Given the description of an element on the screen output the (x, y) to click on. 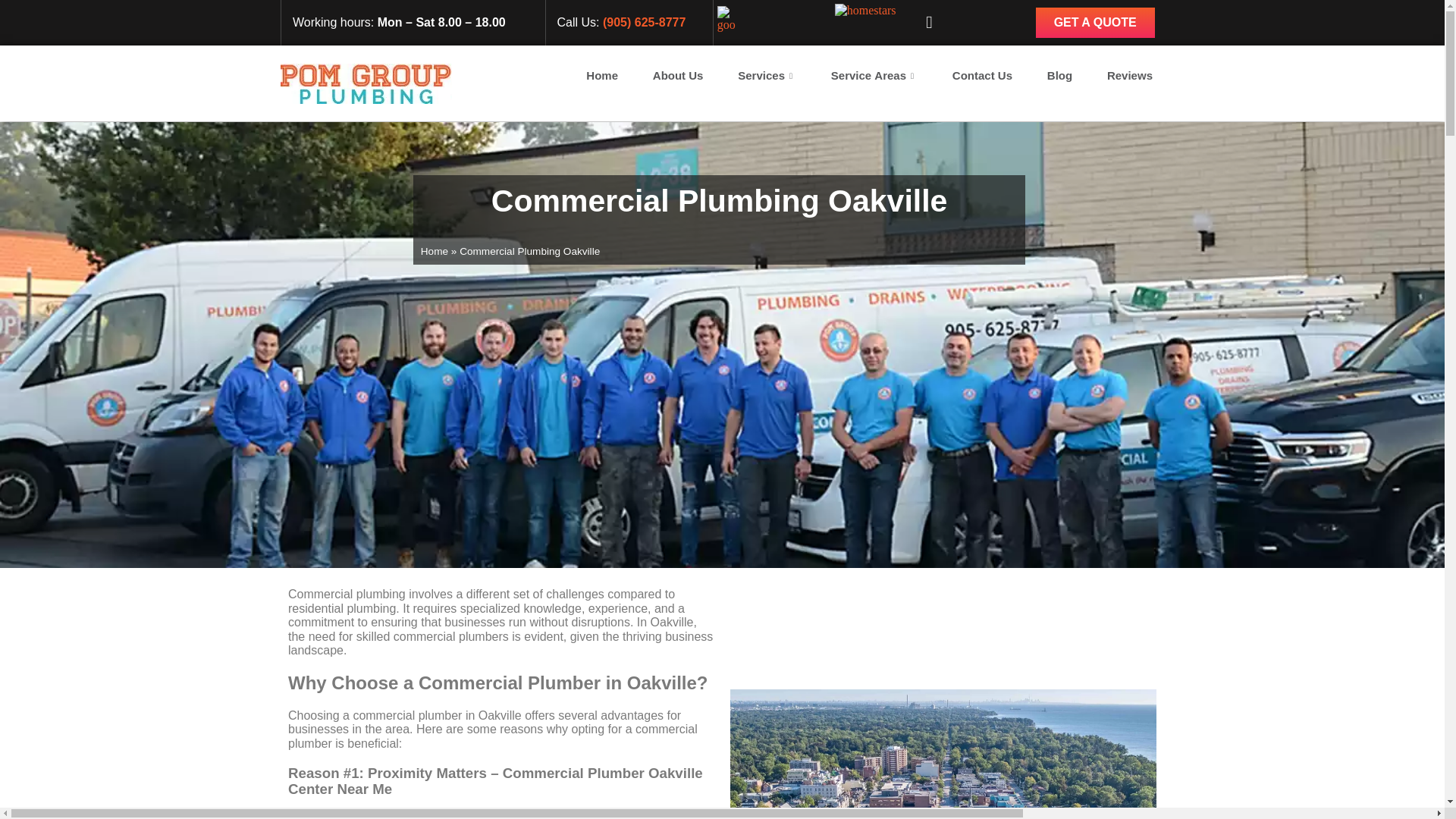
homestars (865, 10)
Services (767, 75)
Home (601, 75)
GET A QUOTE (1094, 22)
About Us (678, 75)
